Given the description of an element on the screen output the (x, y) to click on. 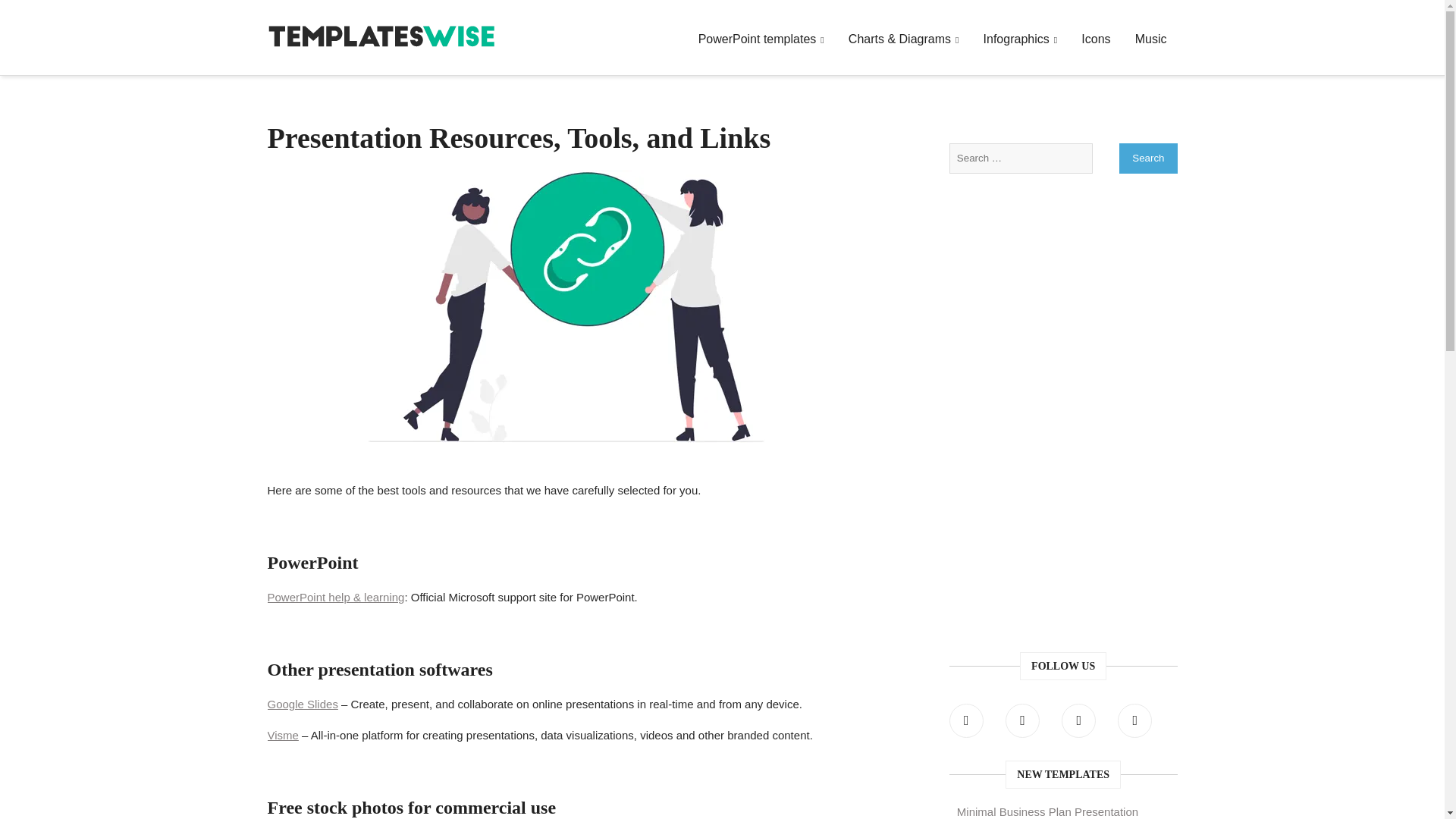
Search (1147, 158)
Visme (282, 735)
PowerPoint templates (760, 39)
Twitter (1022, 720)
Facebook (966, 720)
Search (1147, 158)
instagram (1078, 720)
Infographics (1020, 39)
Search (1147, 158)
Advertisement (1063, 531)
Google Slides (301, 703)
Icons (1095, 39)
Templateswise.com (380, 23)
Music (1150, 39)
